Given the description of an element on the screen output the (x, y) to click on. 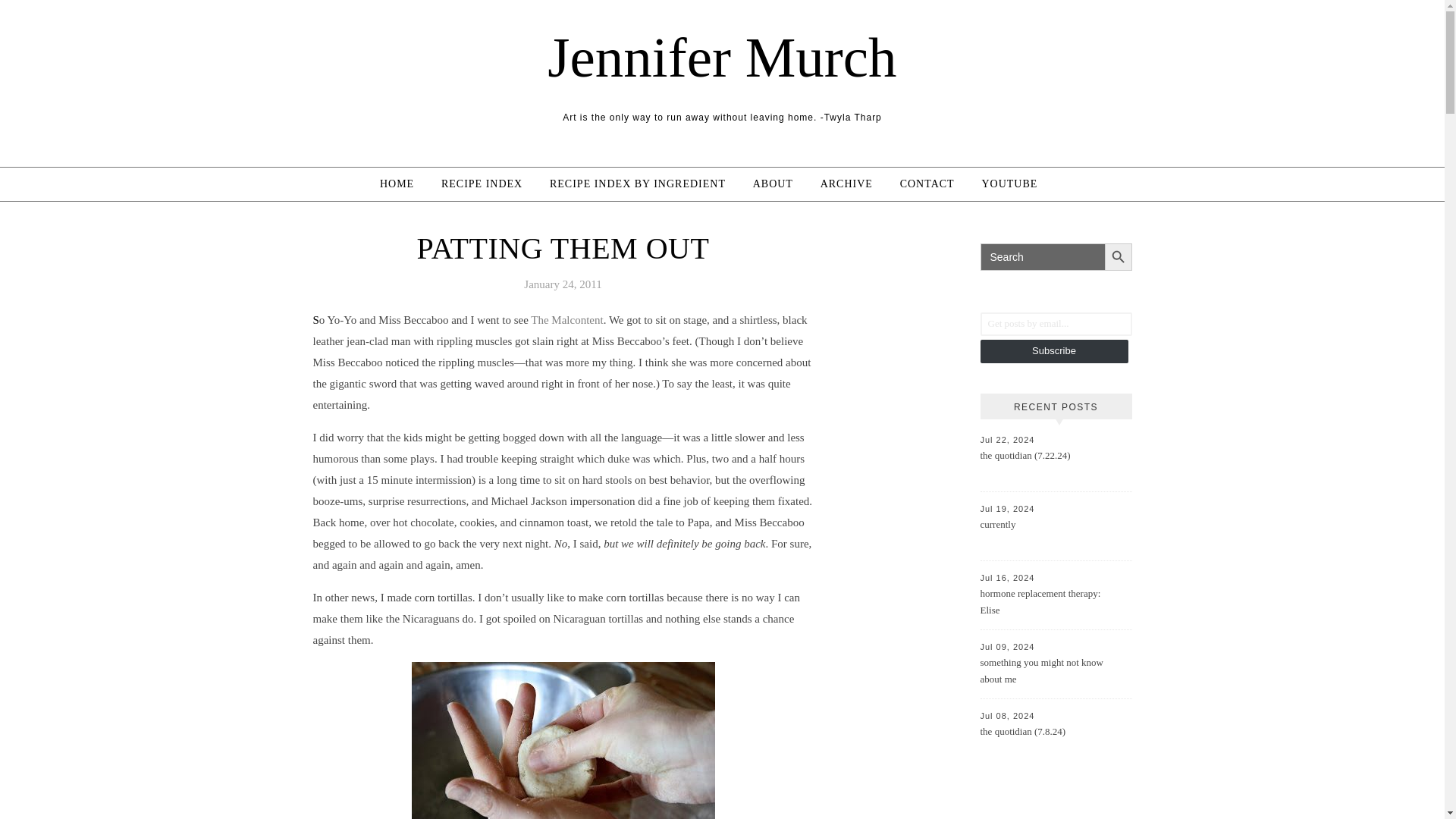
Jennifer Murch (721, 56)
RECIPE INDEX BY INGREDIENT (637, 183)
The Malcontent (566, 319)
ARCHIVE (846, 183)
Please fill in this field. (1055, 323)
RECIPE INDEX (481, 183)
HOME (403, 183)
CONTACT (927, 183)
ABOUT (773, 183)
YOUTUBE (1009, 183)
